Given the description of an element on the screen output the (x, y) to click on. 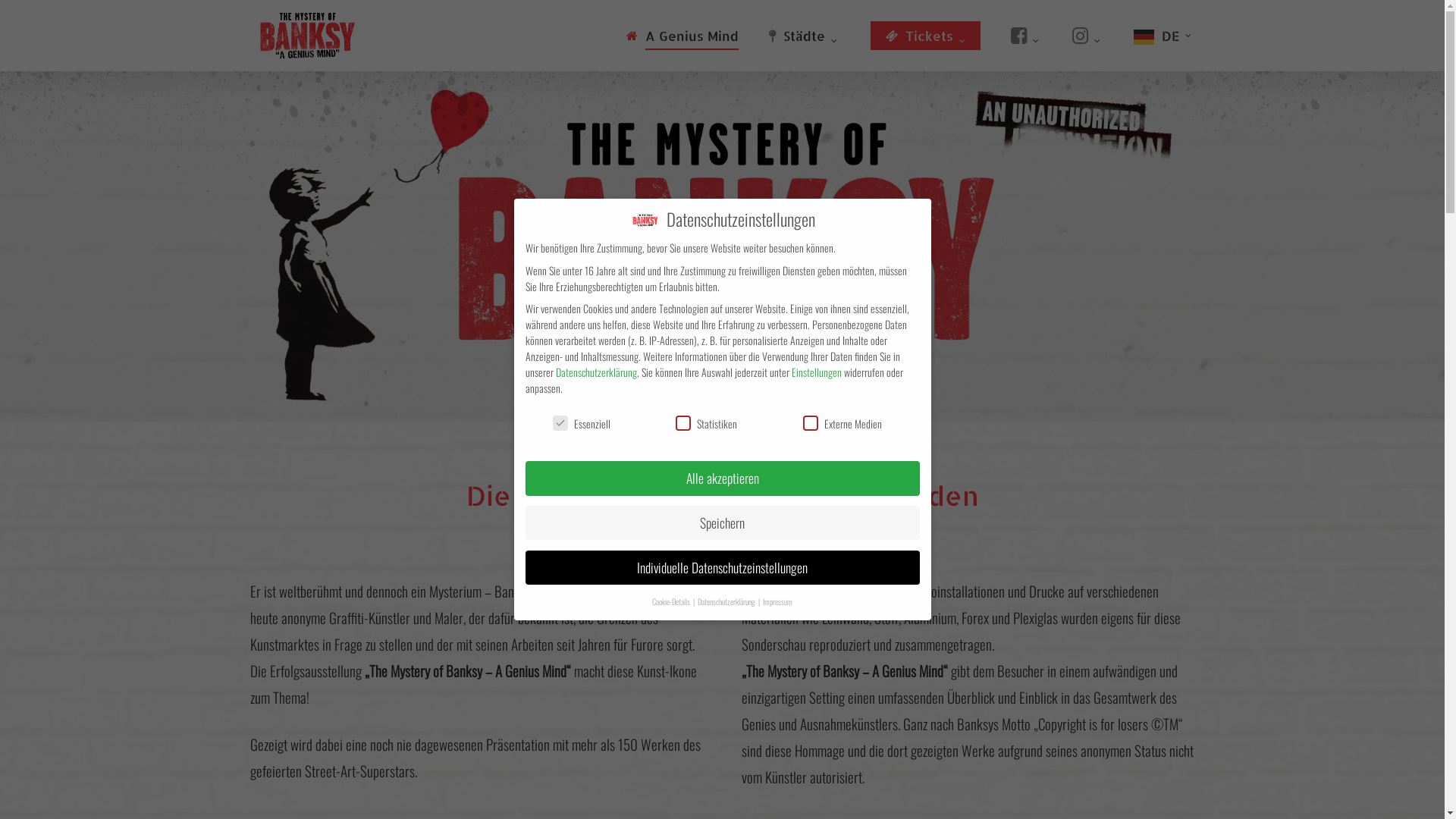
Speichern Element type: text (721, 522)
A Genius Mind Element type: text (682, 34)
Alle akzeptieren Element type: text (721, 478)
Individuelle Datenschutzeinstellungen Element type: text (721, 567)
Cookie-Details Element type: text (671, 601)
DE Element type: text (1163, 34)
Einstellungen Element type: text (816, 371)
Tickets Element type: text (925, 34)
Impressum Element type: text (777, 601)
